Given the description of an element on the screen output the (x, y) to click on. 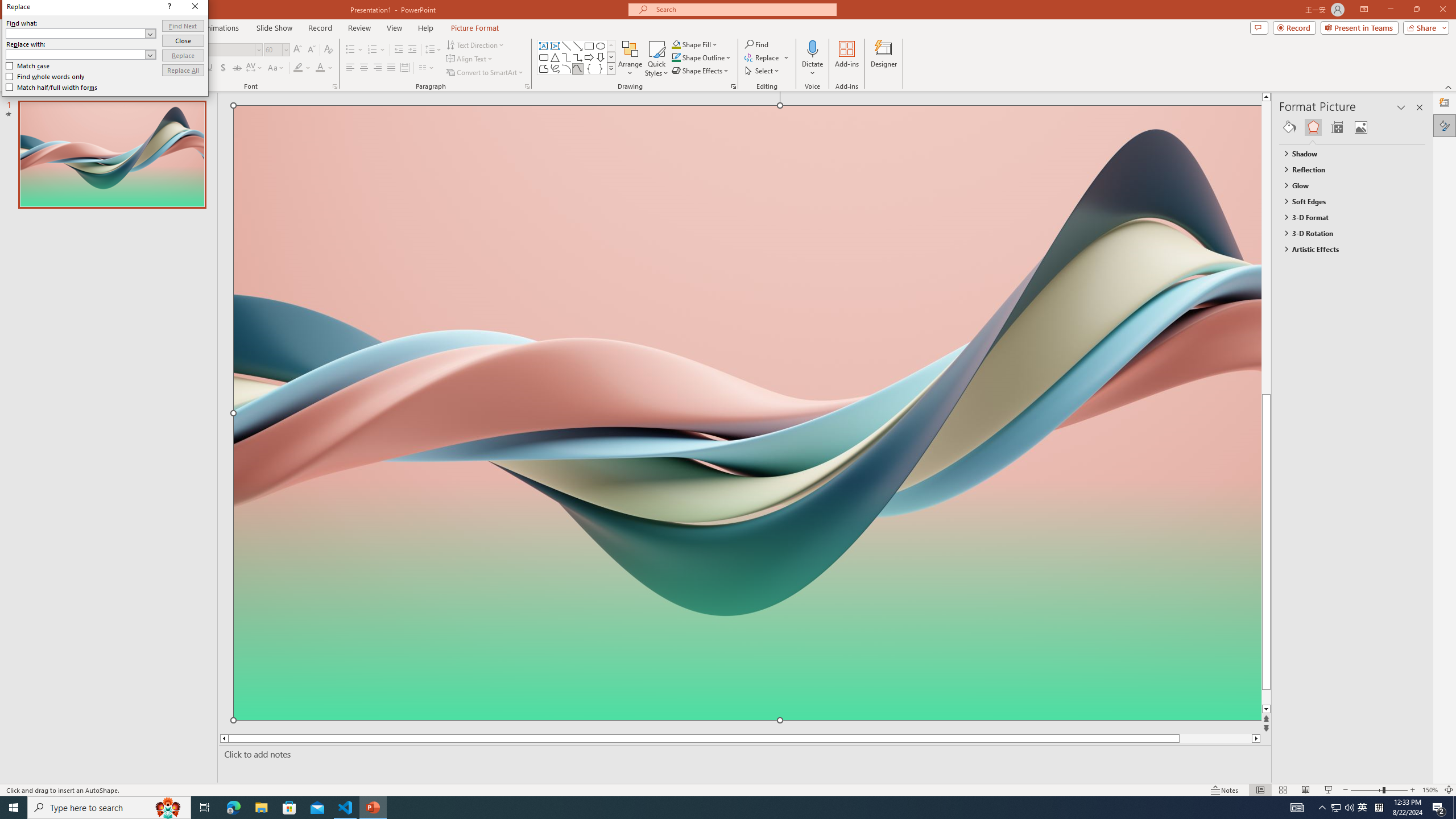
Soft Edges (1347, 201)
3-D Rotation (1347, 232)
Find what (75, 33)
Replace with (80, 54)
